Given the description of an element on the screen output the (x, y) to click on. 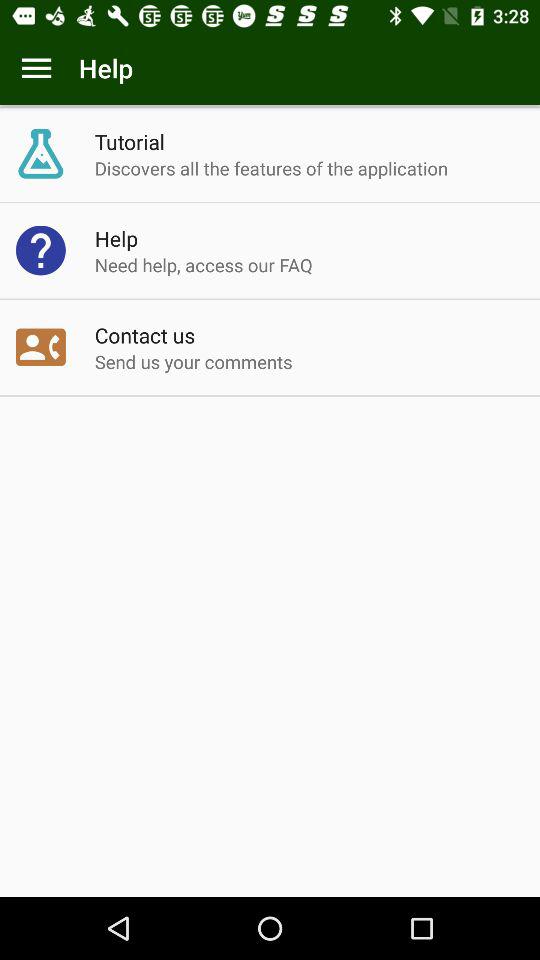
open the icon to the left of the help item (36, 68)
